Given the description of an element on the screen output the (x, y) to click on. 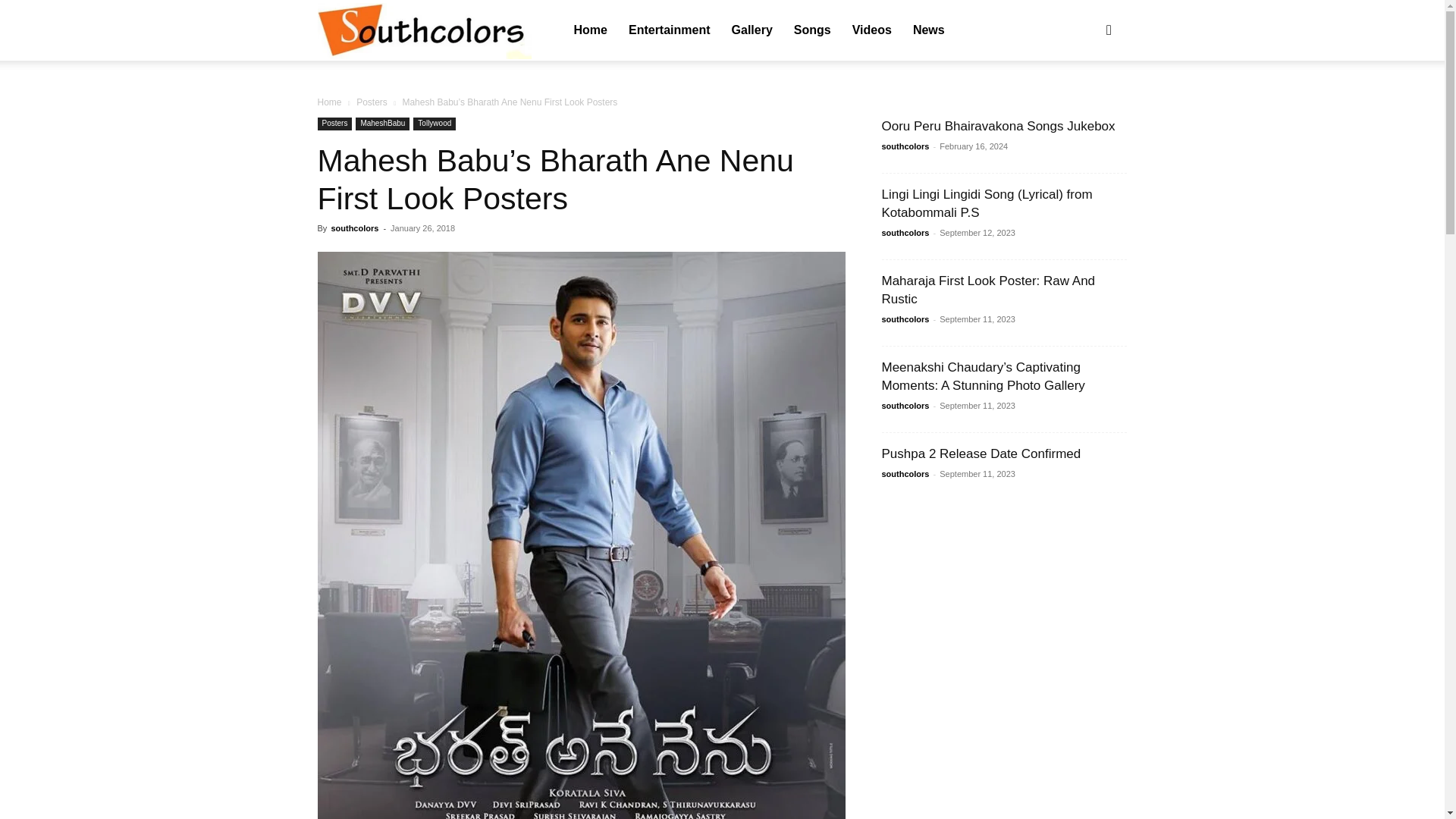
Posters (334, 123)
MaheshBabu (382, 123)
Home (328, 102)
Entertainment (668, 30)
Posters (371, 102)
Home (590, 30)
Videos (871, 30)
SouthColors (424, 30)
Search (1085, 102)
Songs (812, 30)
View all posts in Posters (371, 102)
Gallery (751, 30)
southcolors (424, 30)
